Given the description of an element on the screen output the (x, y) to click on. 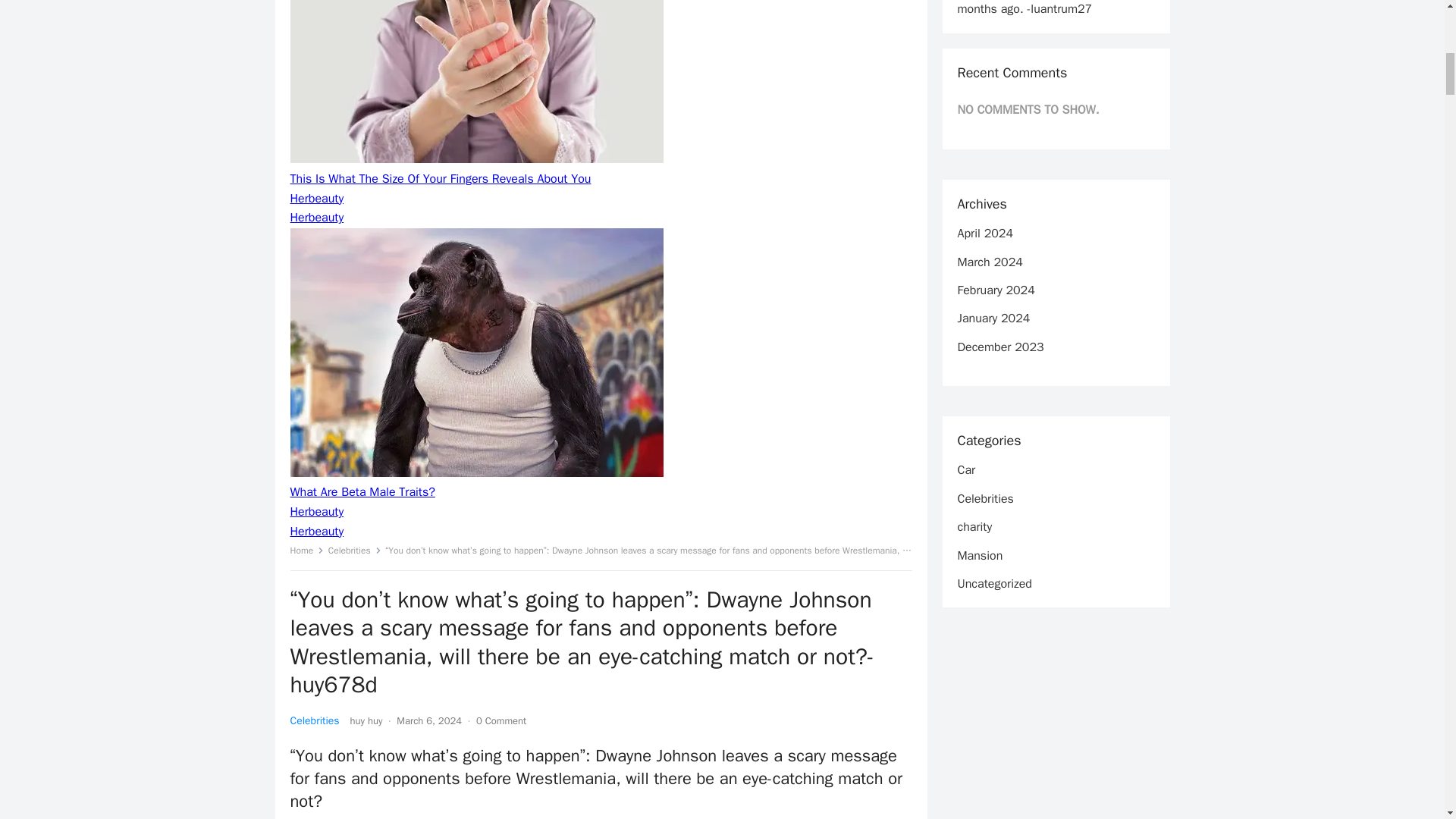
0 Comment (500, 720)
Celebrities (314, 720)
huy huy (366, 720)
Posts by huy huy (366, 720)
Home (306, 550)
Celebrities (355, 550)
